Given the description of an element on the screen output the (x, y) to click on. 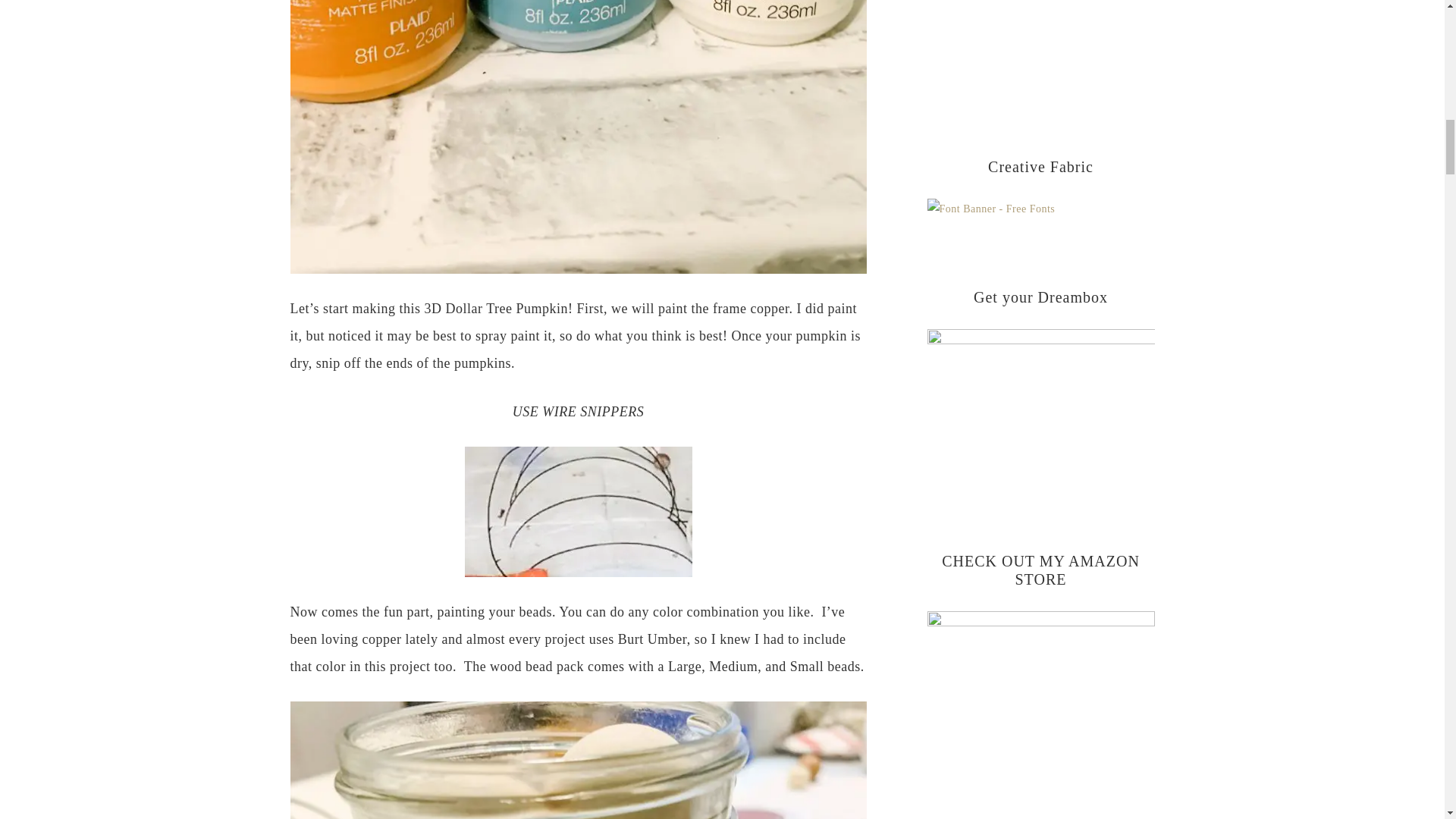
Font Banner - Free Fonts (990, 208)
Get your Dreambox (1040, 406)
